Given the description of an element on the screen output the (x, y) to click on. 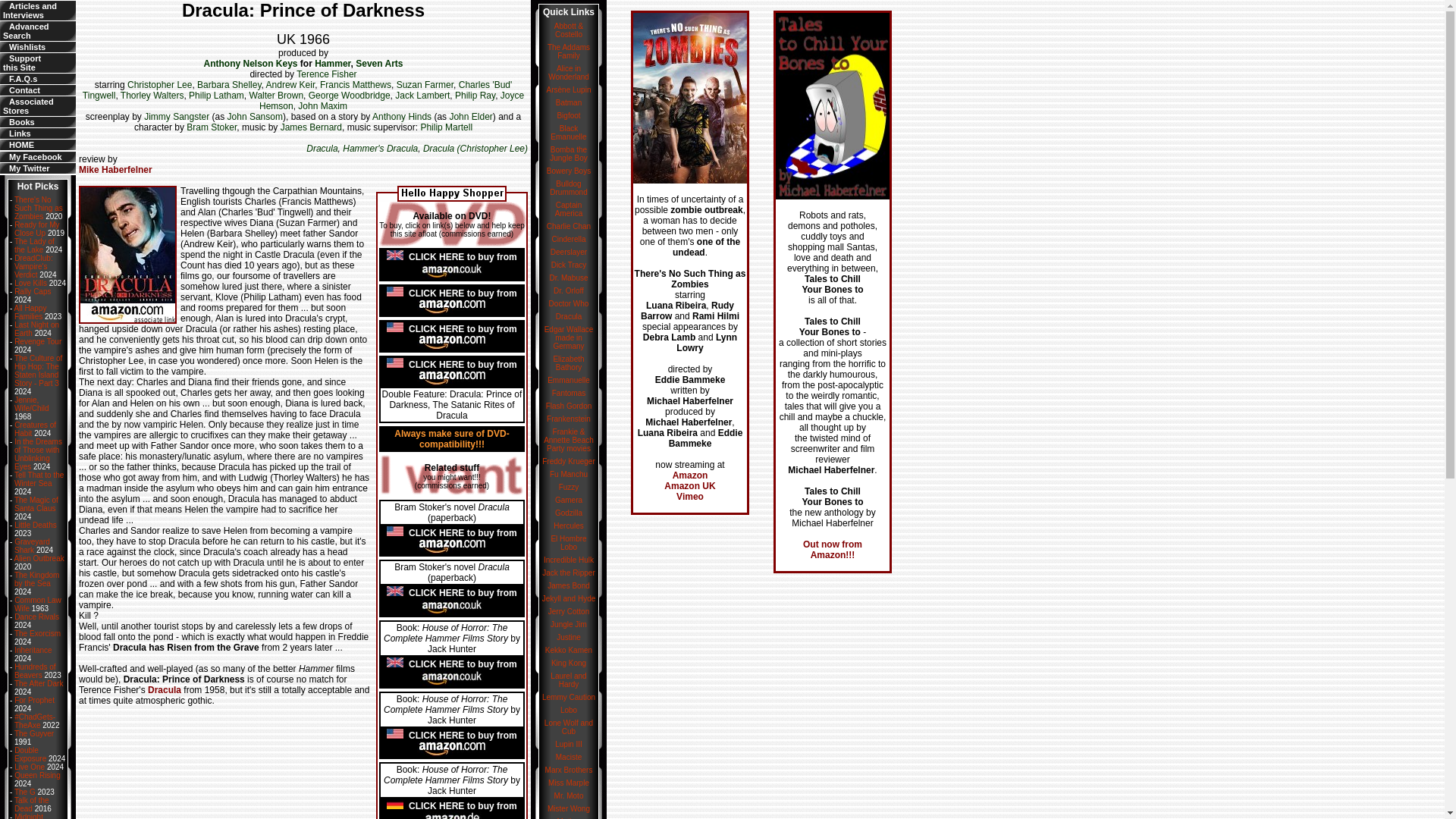
Common Law Wife (37, 604)
All Happy Families (30, 312)
Rally Caps (32, 291)
My Facebook (35, 156)
Books (21, 121)
Love Kills (30, 283)
Advanced Search (25, 31)
The After Dark (38, 683)
The Magic of Santa Claus (36, 504)
The Lady of the Lake (21, 63)
Links (34, 245)
Inheritance (19, 133)
The Exorcism (32, 650)
Revenge Tour (37, 633)
